Given the description of an element on the screen output the (x, y) to click on. 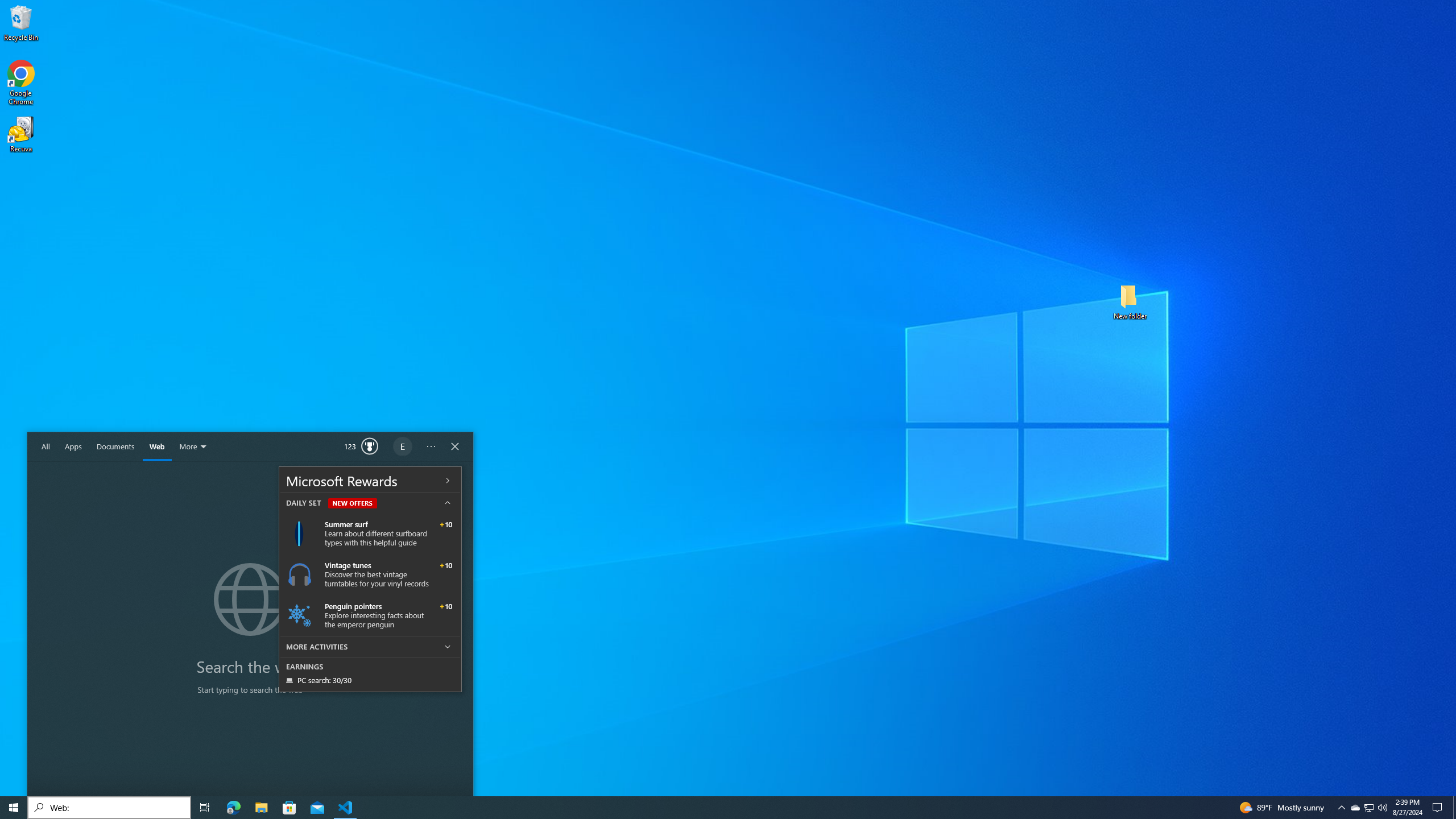
Web (156, 447)
Documents (115, 447)
Apps (73, 447)
More (194, 447)
EugeneLedger601@outlook.com (403, 447)
Microsoft Rewards balance: 123 (361, 447)
